Given the description of an element on the screen output the (x, y) to click on. 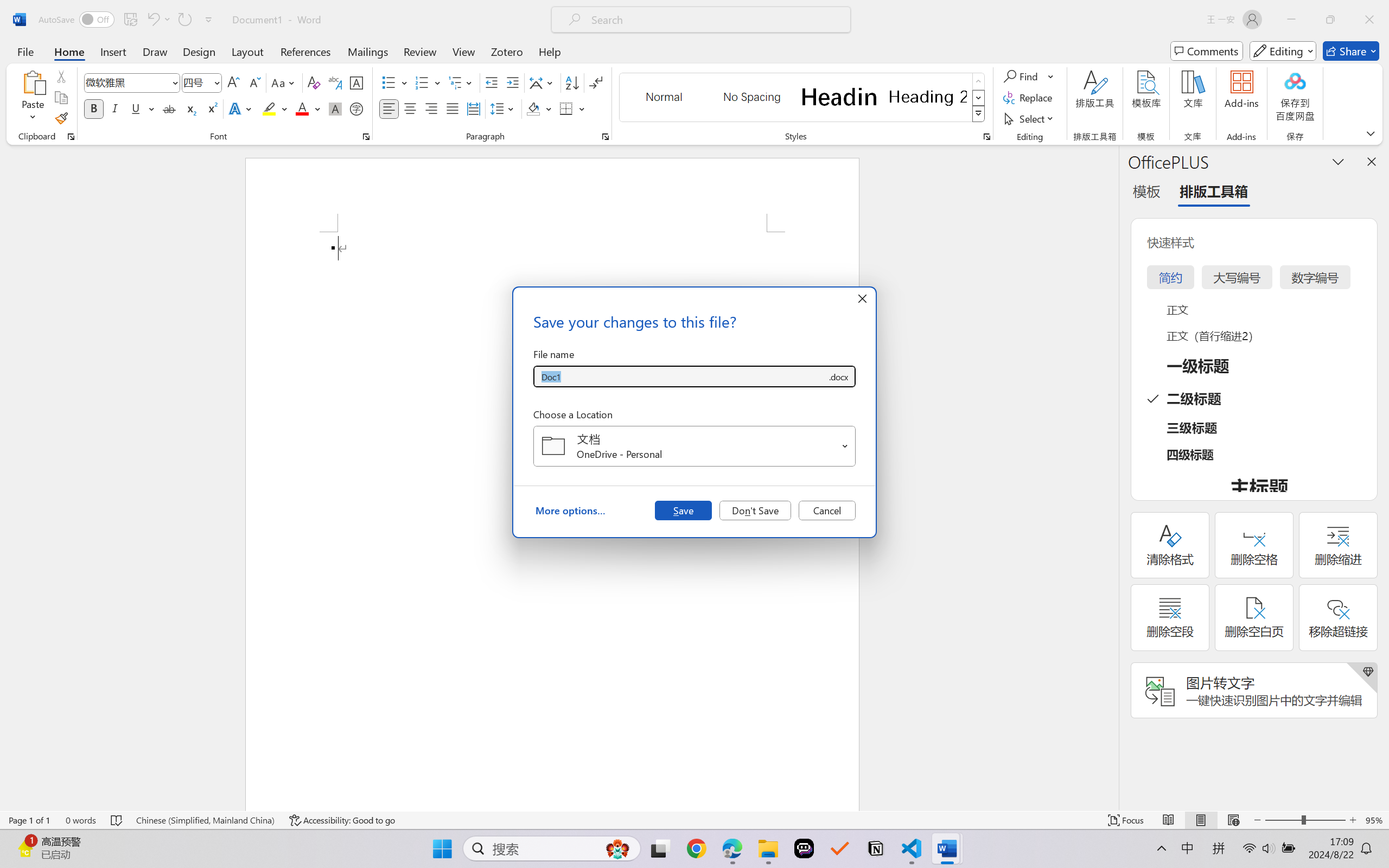
Class: MsoCommandBar (694, 819)
